Given the description of an element on the screen output the (x, y) to click on. 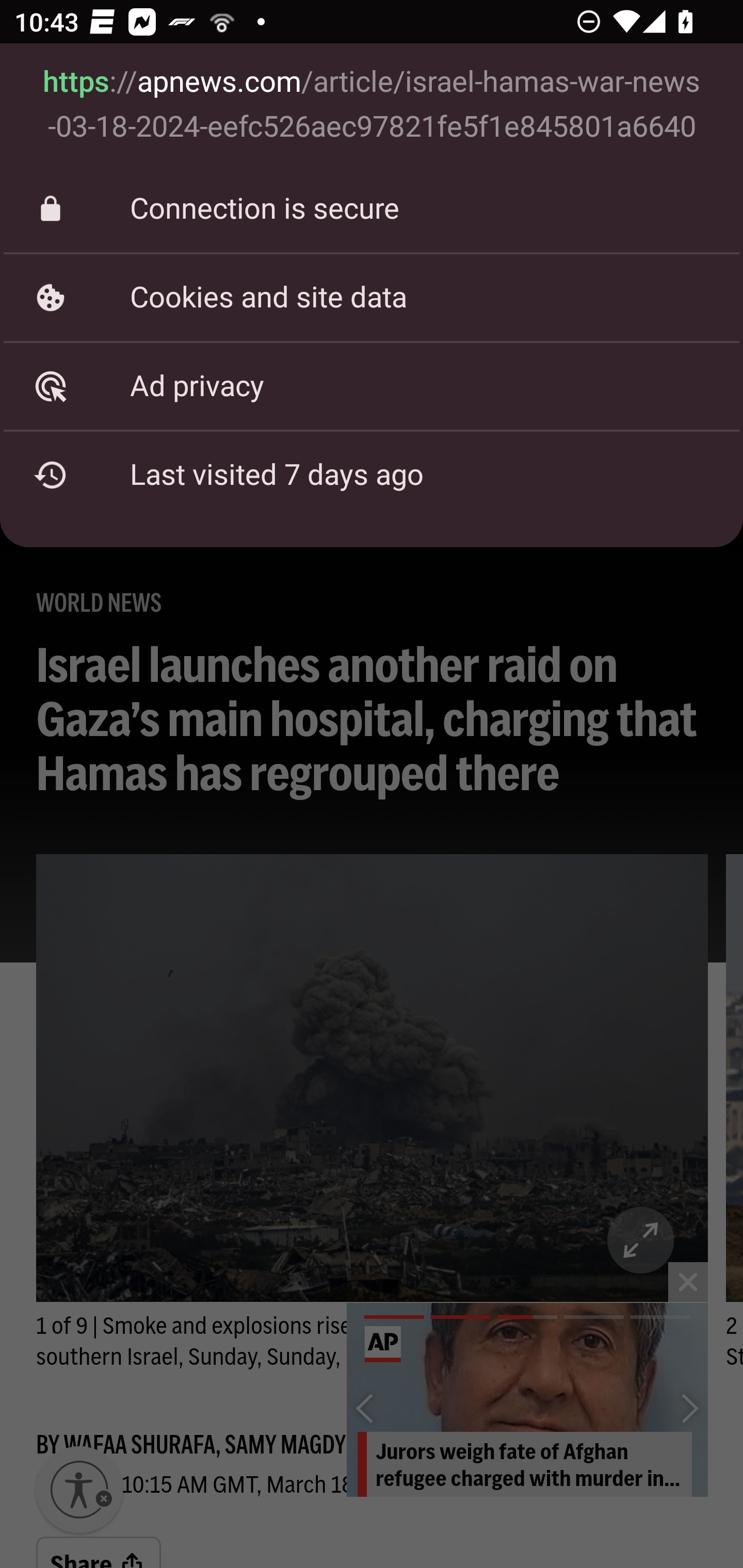
Connection is secure (371, 209)
Cookies and site data (371, 297)
Ad privacy (371, 386)
Last visited 7 days ago (371, 475)
